Given the description of an element on the screen output the (x, y) to click on. 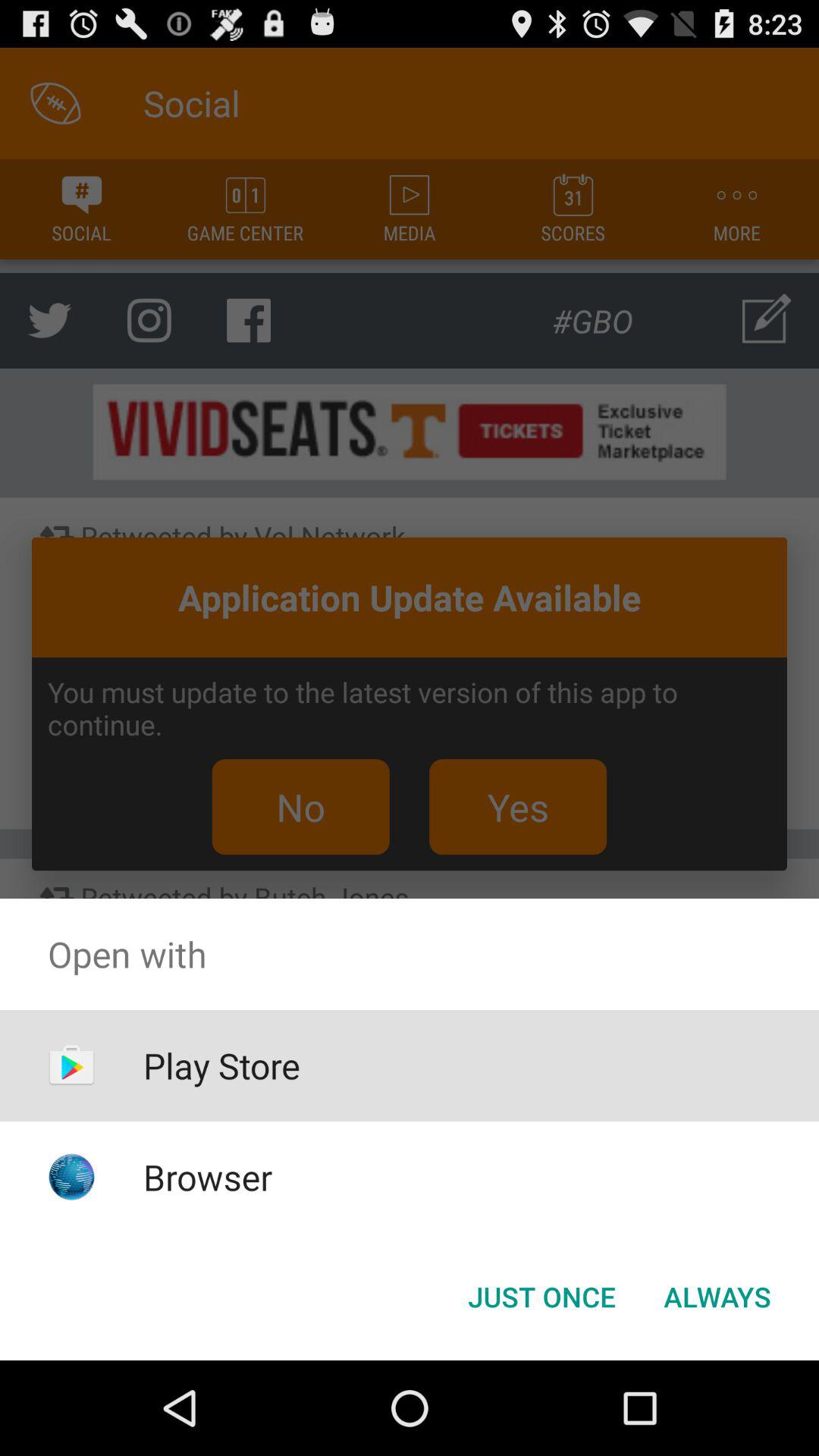
tap the always button (717, 1296)
